Given the description of an element on the screen output the (x, y) to click on. 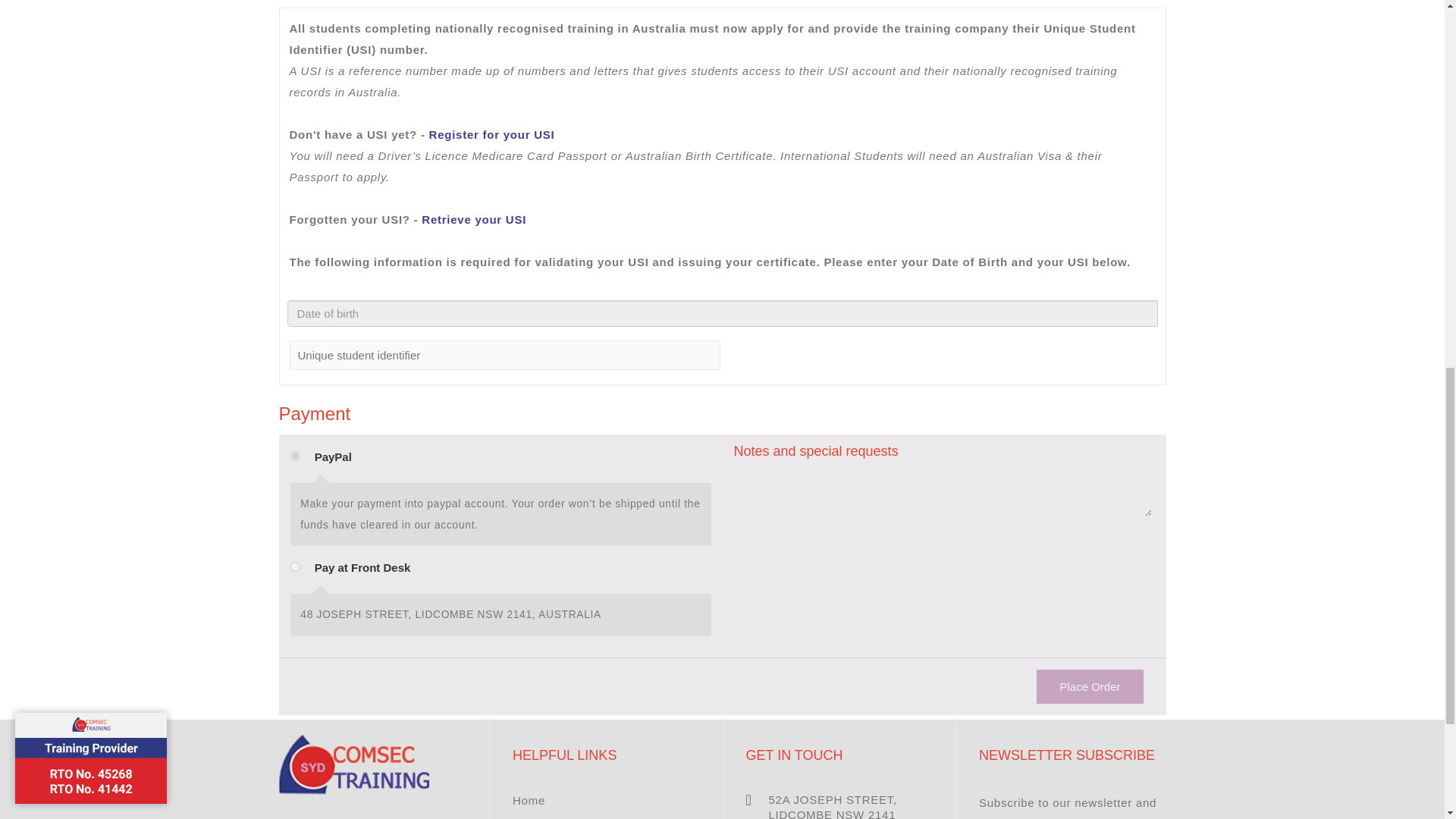
Place Order (1089, 686)
PF (294, 566)
PP (294, 456)
